Given the description of an element on the screen output the (x, y) to click on. 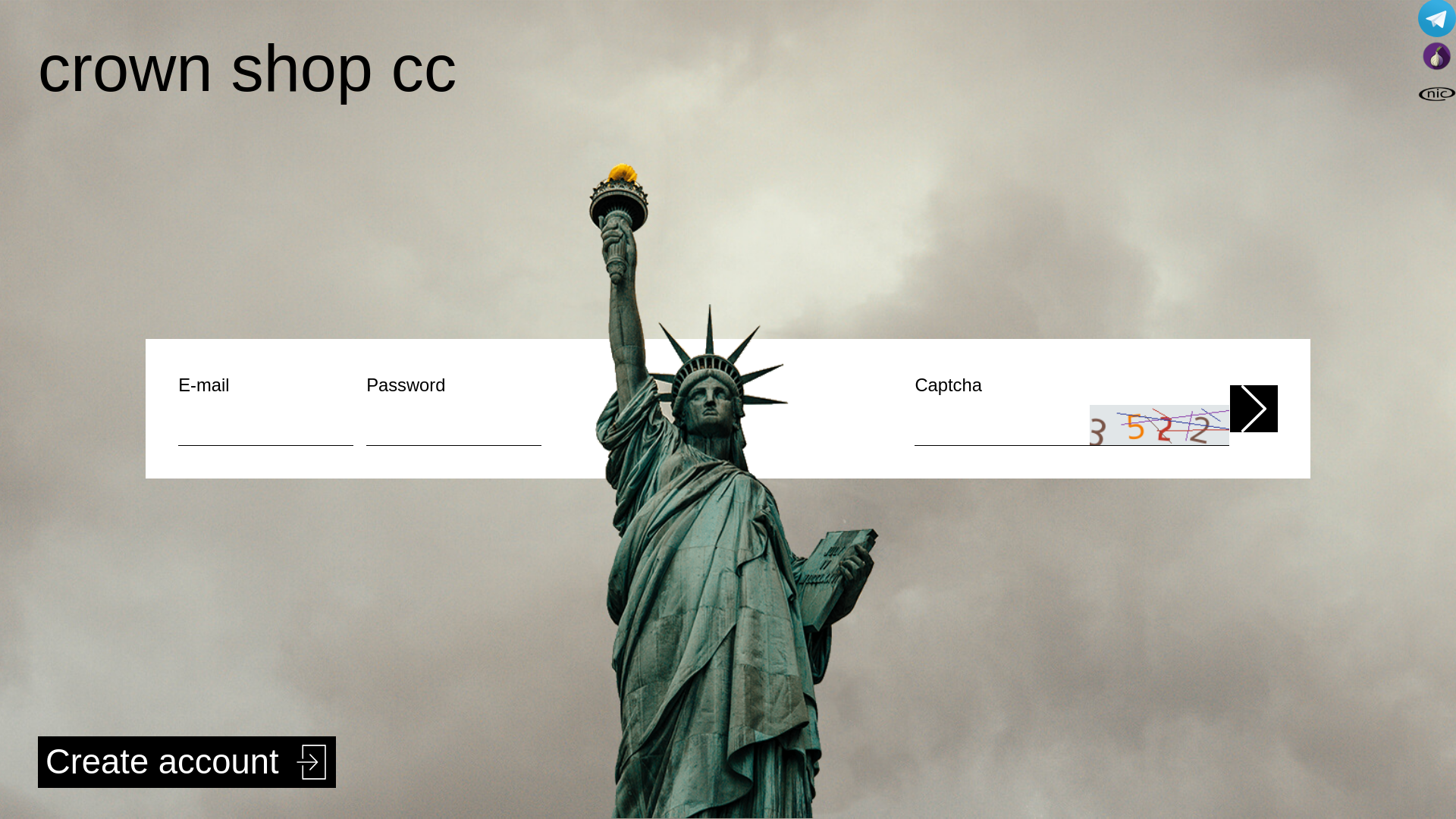
Create account Element type: text (186, 761)
